Given the description of an element on the screen output the (x, y) to click on. 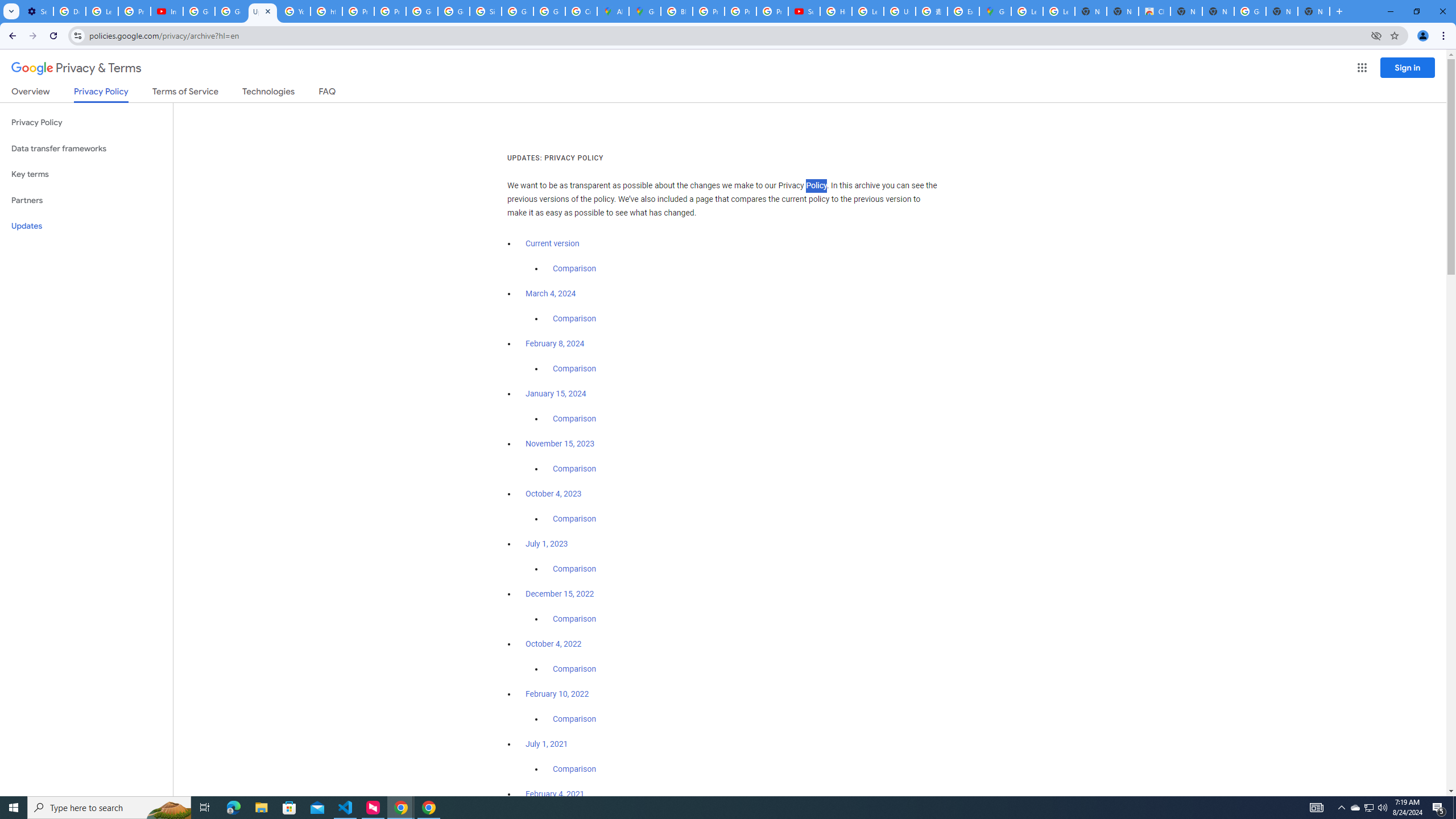
Comparison (574, 768)
Subscriptions - YouTube (804, 11)
